Given the description of an element on the screen output the (x, y) to click on. 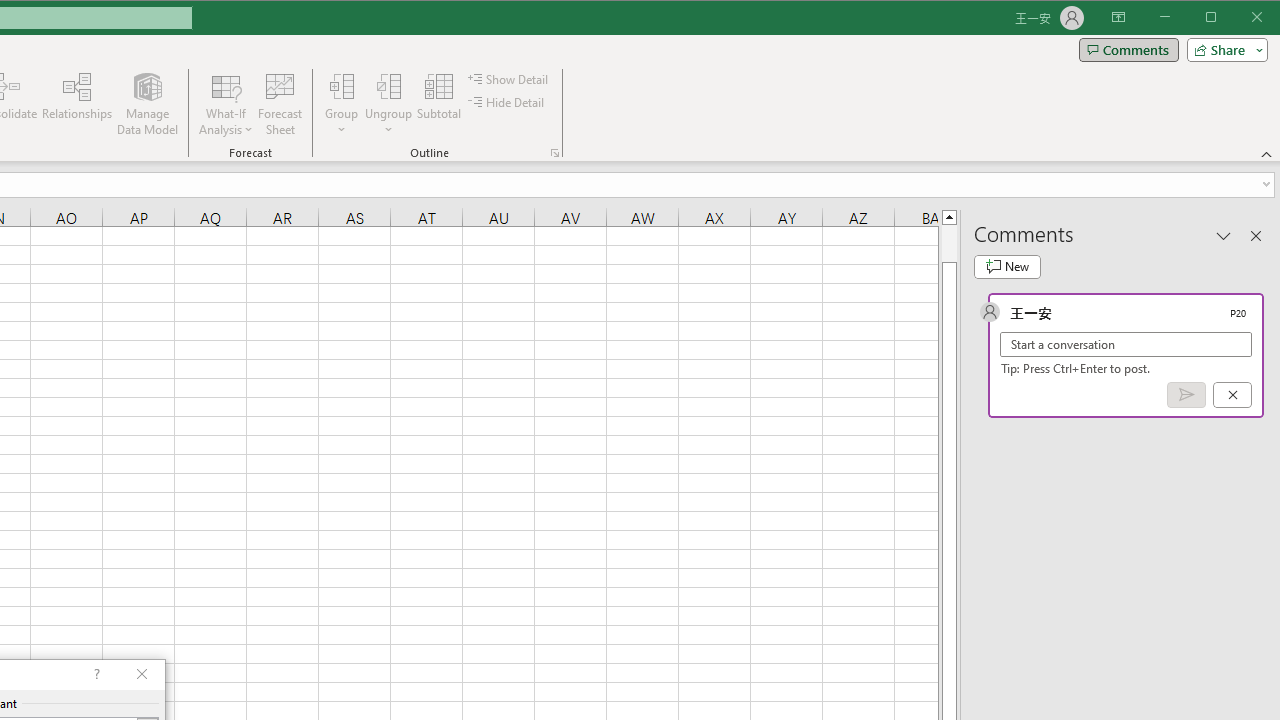
New comment (1007, 266)
Cancel (1232, 395)
Relationships (77, 104)
Maximize (1239, 18)
Manage Data Model (147, 104)
Hide Detail (506, 101)
Page up (948, 243)
